Given the description of an element on the screen output the (x, y) to click on. 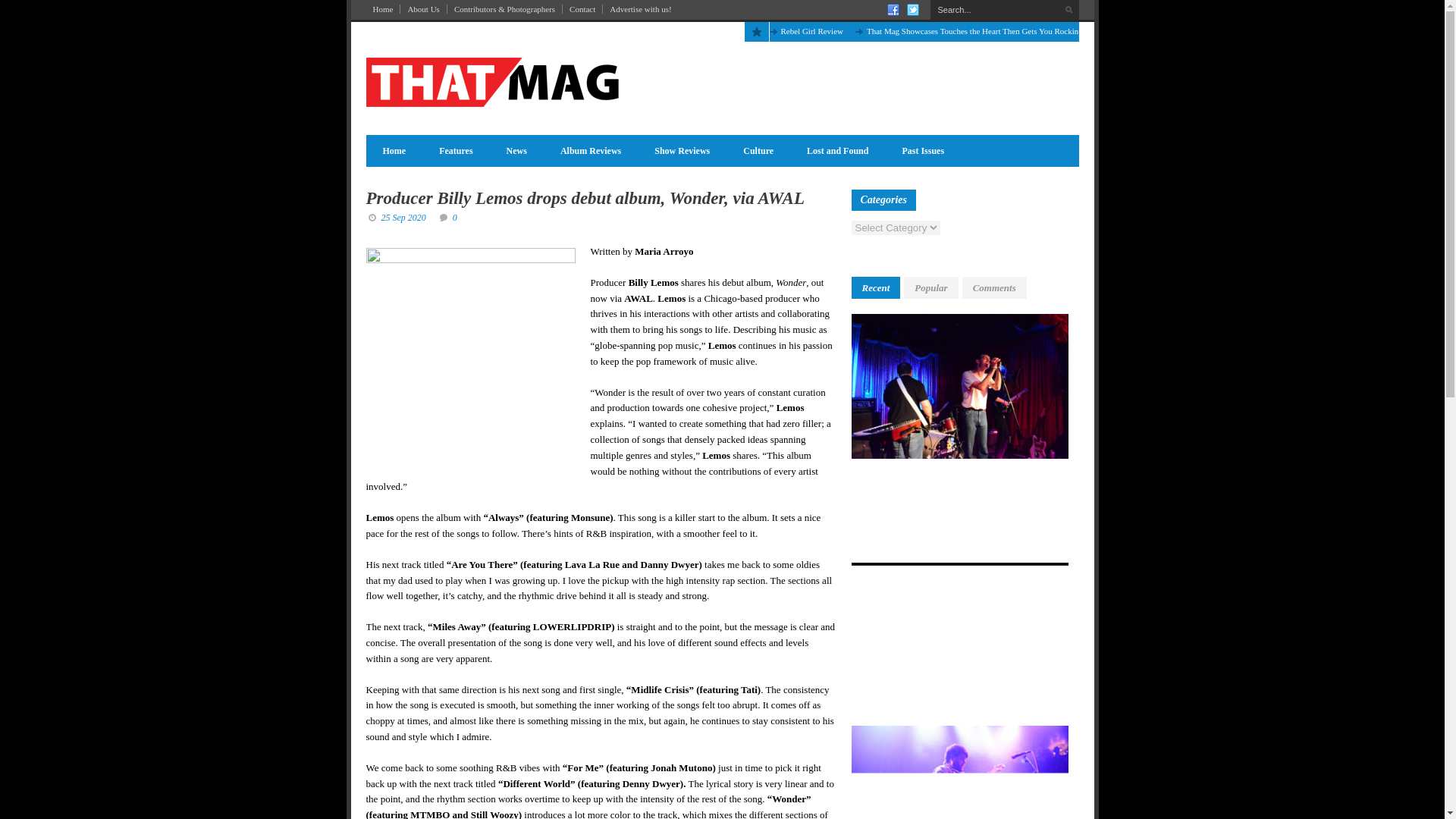
News (516, 150)
Contact (582, 8)
Producer Billy Lemos drops debut album, Wonder, via AWAL (584, 198)
About Us (423, 8)
Past Issues (922, 150)
Home (382, 8)
Home (393, 150)
Rebel Girl Review (811, 31)
25 Sep 2020 (402, 217)
Features (455, 150)
